Given the description of an element on the screen output the (x, y) to click on. 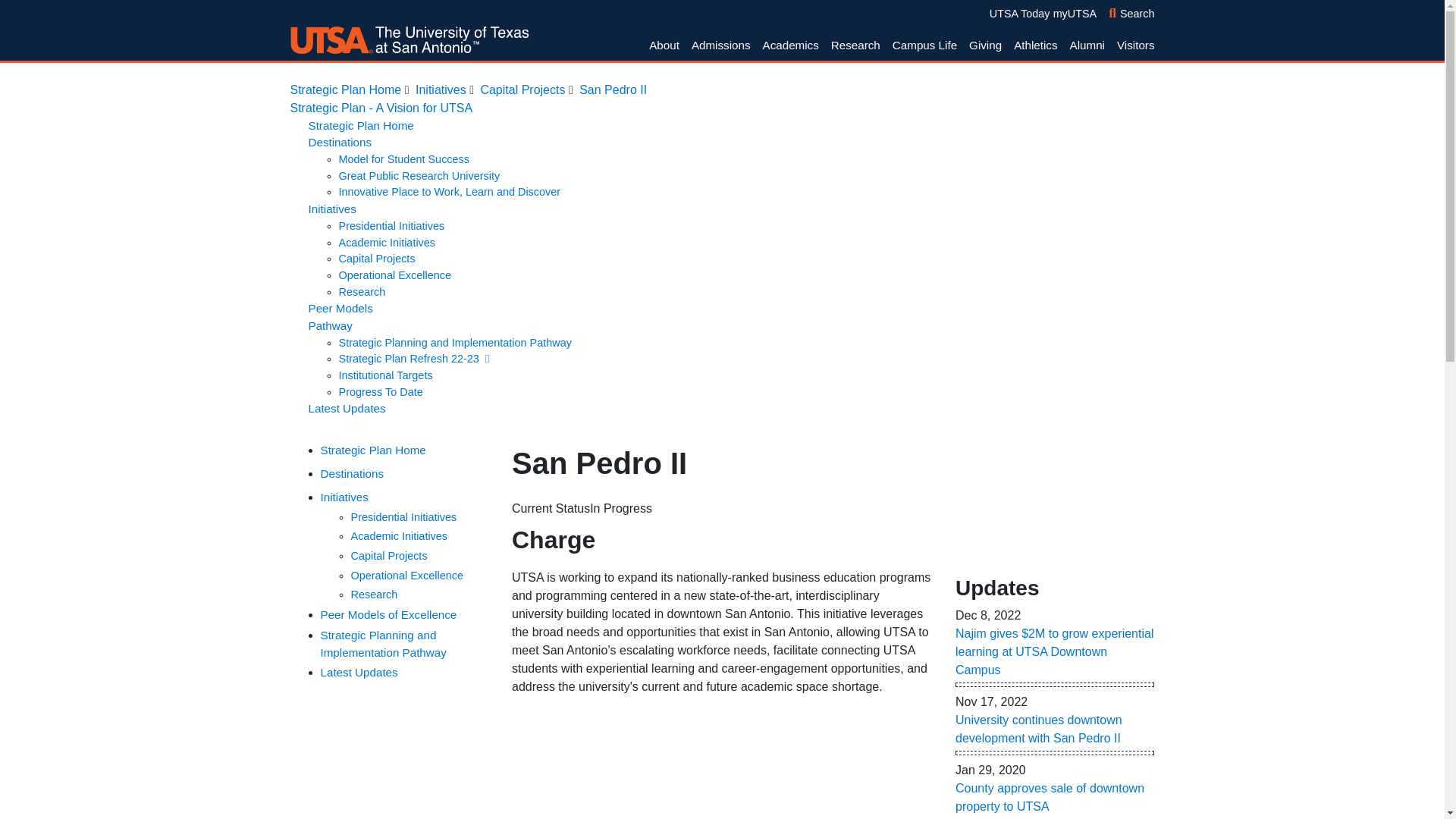
Strategic Plan - A Vision for UTSA (380, 107)
Giving (984, 45)
Athletics (1034, 45)
Strategic Plan Refresh 22-23    (414, 358)
UTSA Today (1019, 12)
Capital Projects (375, 258)
Admissions (721, 45)
Destinations (339, 141)
Academics (791, 45)
